Given the description of an element on the screen output the (x, y) to click on. 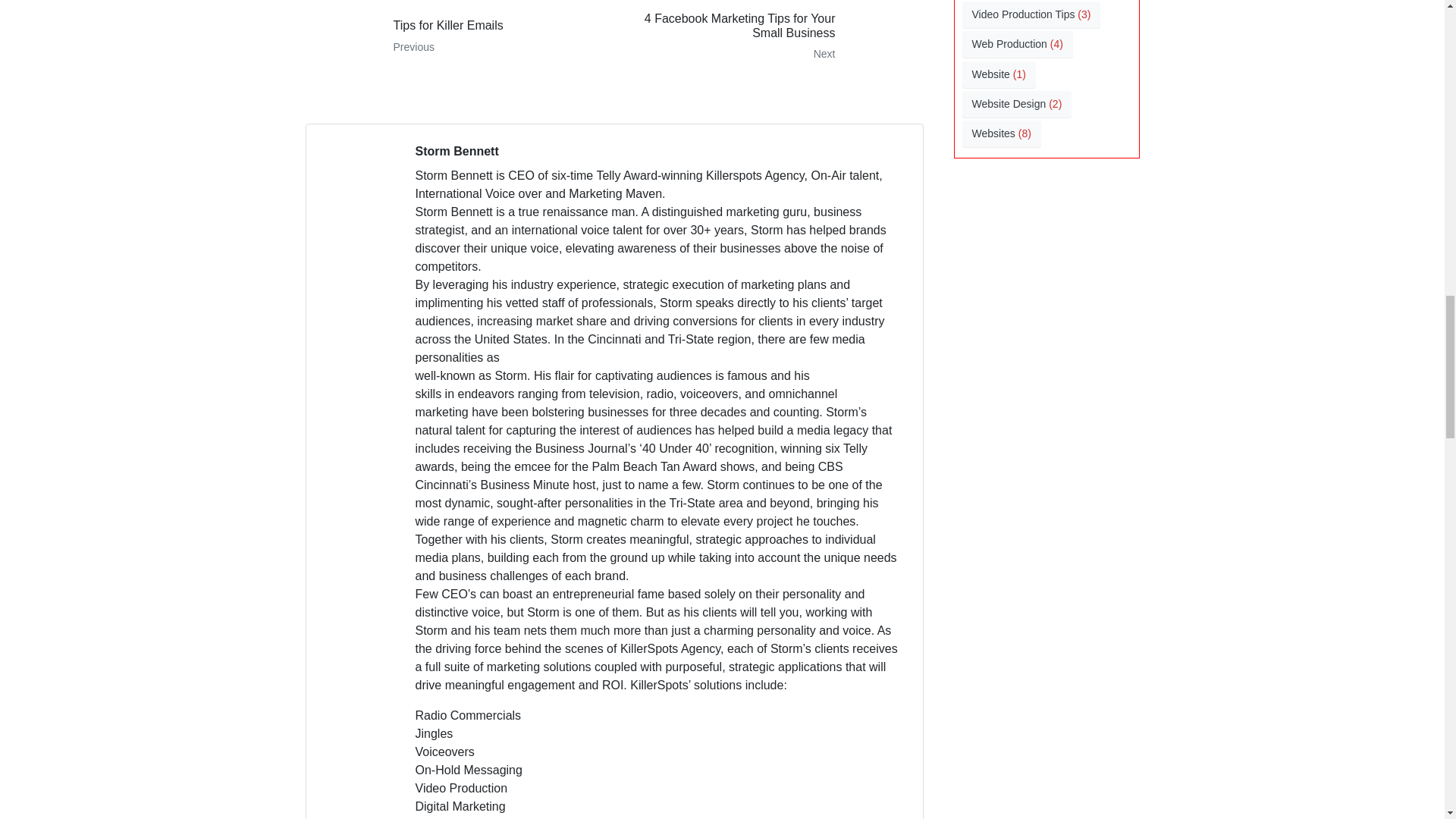
4 Facebook Marketing Tips for Your Small Business (774, 37)
Tips for Killer Emails (454, 37)
